Given the description of an element on the screen output the (x, y) to click on. 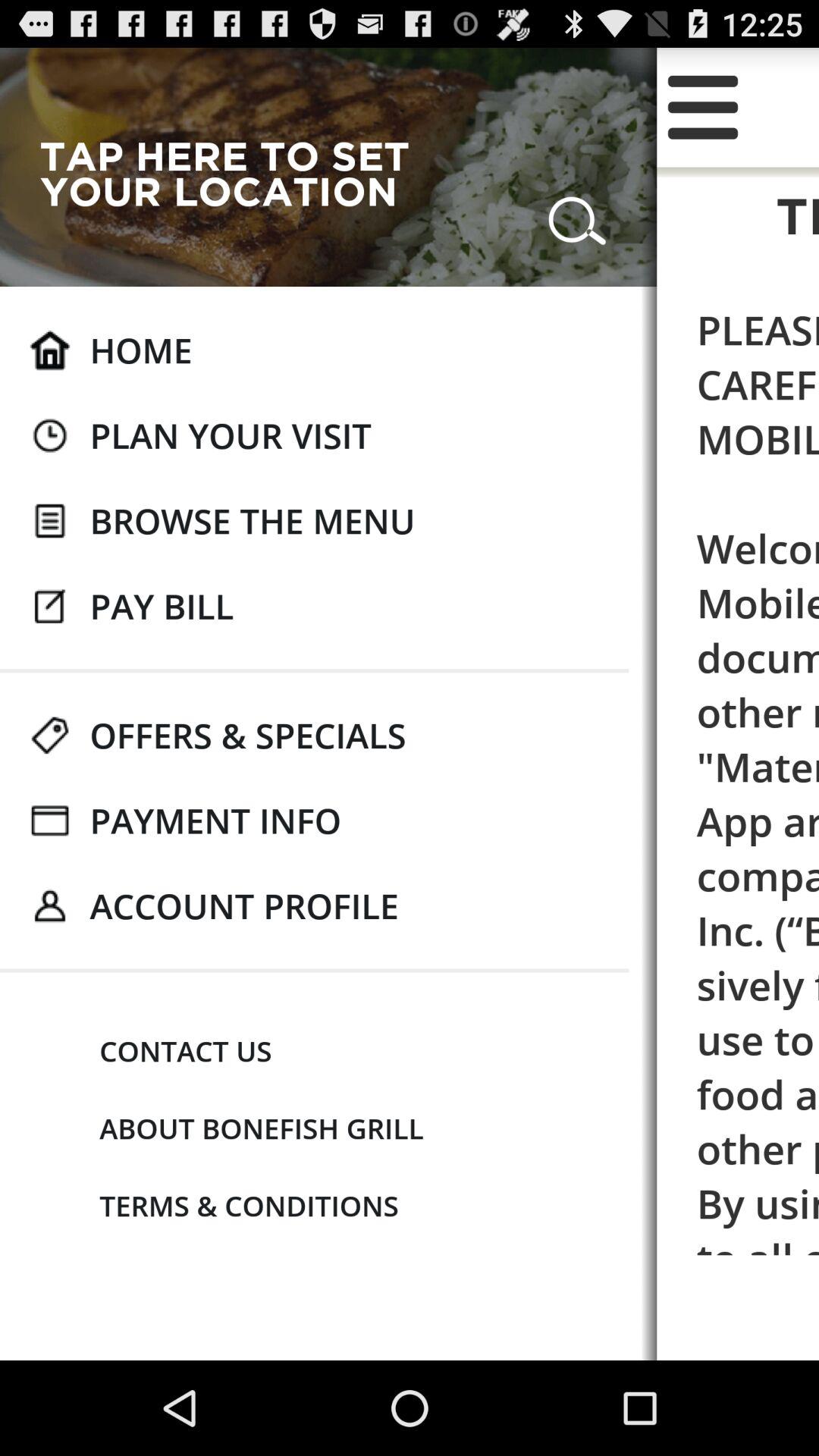
open icon next to please read these item (252, 520)
